Given the description of an element on the screen output the (x, y) to click on. 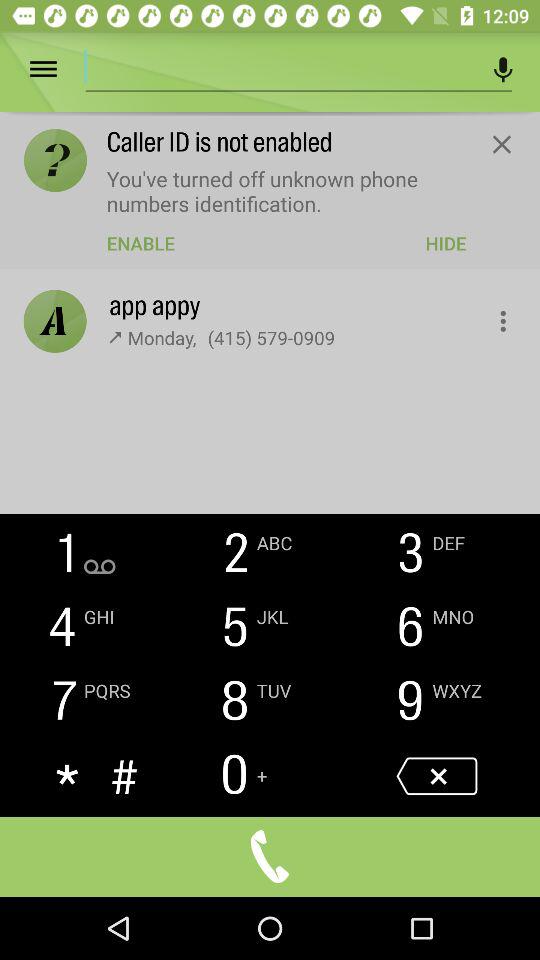
enter search terms (281, 66)
